Given the description of an element on the screen output the (x, y) to click on. 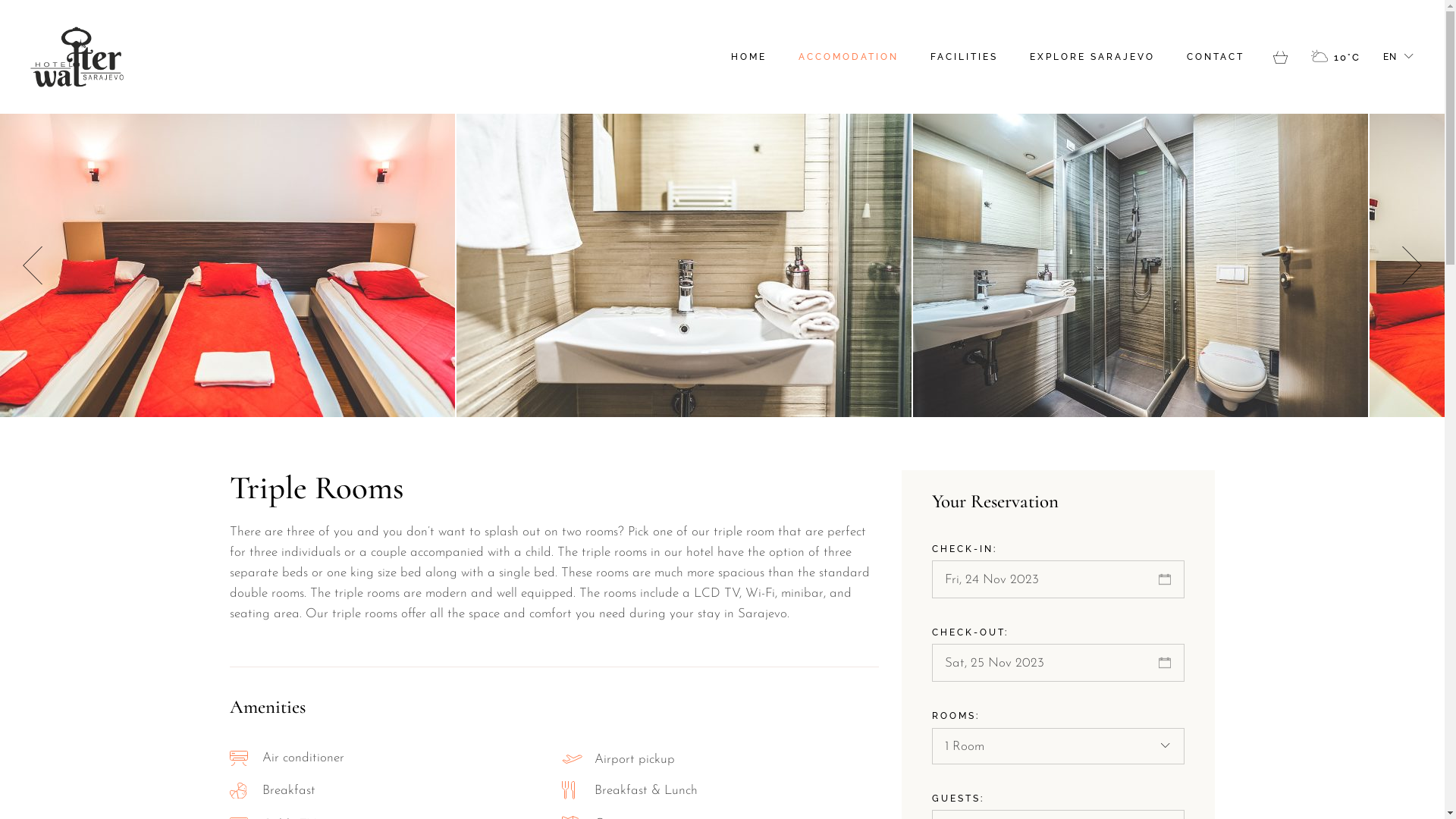
EN Element type: text (1398, 57)
CONTACT Element type: text (1215, 56)
FACILITIES Element type: text (963, 56)
EXPLORE SARAJEVO Element type: text (1091, 56)
HOME Element type: text (748, 56)
ACCOMODATION Element type: text (848, 56)
